Given the description of an element on the screen output the (x, y) to click on. 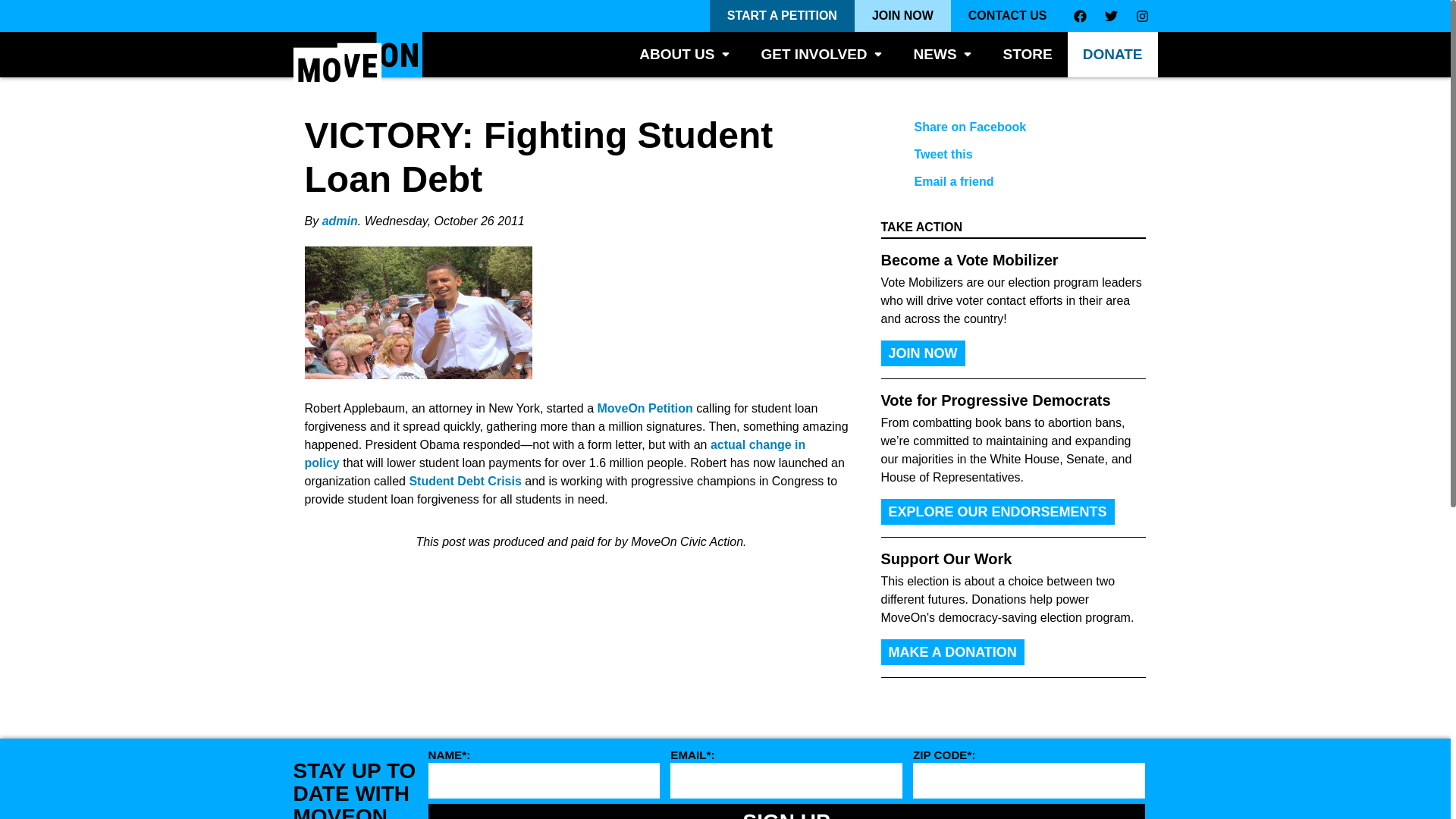
JOIN NOW (902, 15)
CONTACT US (1007, 15)
START A PETITION (782, 15)
JOIN NOW (922, 353)
DONATE (1112, 53)
STORE (1027, 53)
EXPLORE OUR ENDORSEMENTS (997, 511)
MoveOn Petition (644, 408)
Posts by admin (339, 220)
MAKE A DONATION (952, 652)
